Given the description of an element on the screen output the (x, y) to click on. 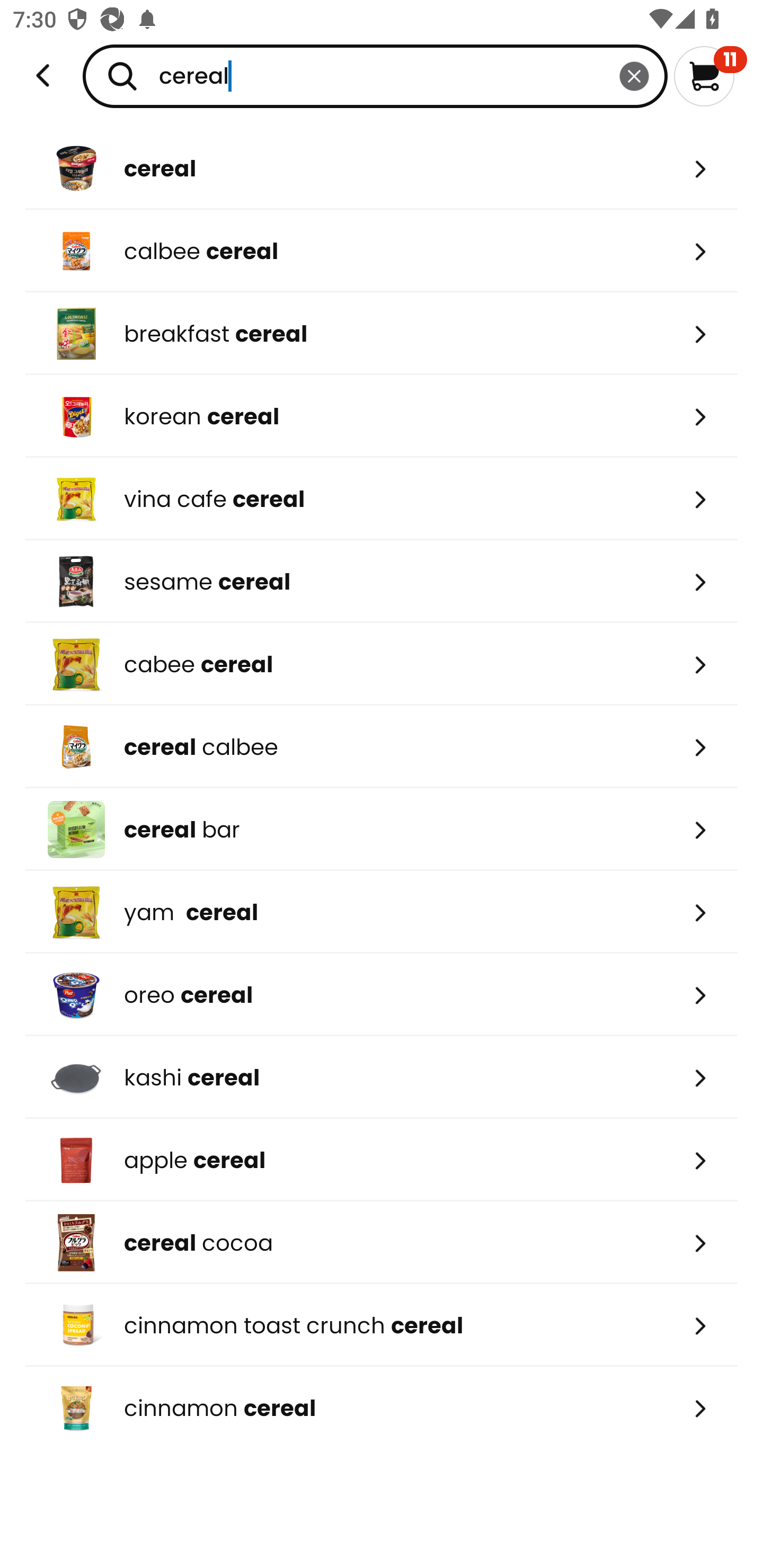
cereal (374, 75)
11 (709, 75)
Weee! (42, 76)
cereal (381, 168)
calbee cereal (381, 250)
breakfast cereal (381, 332)
korean cereal (381, 415)
vina cafe cereal (381, 498)
sesame cereal (381, 581)
cabee cereal (381, 663)
cereal calbee (381, 746)
cereal bar (381, 829)
yam  cereal (381, 911)
oreo cereal (381, 994)
kashi cereal (381, 1077)
apple cereal (381, 1160)
cereal cocoa (381, 1242)
cinnamon toast crunch cereal (381, 1325)
cinnamon cereal (381, 1407)
